Given the description of an element on the screen output the (x, y) to click on. 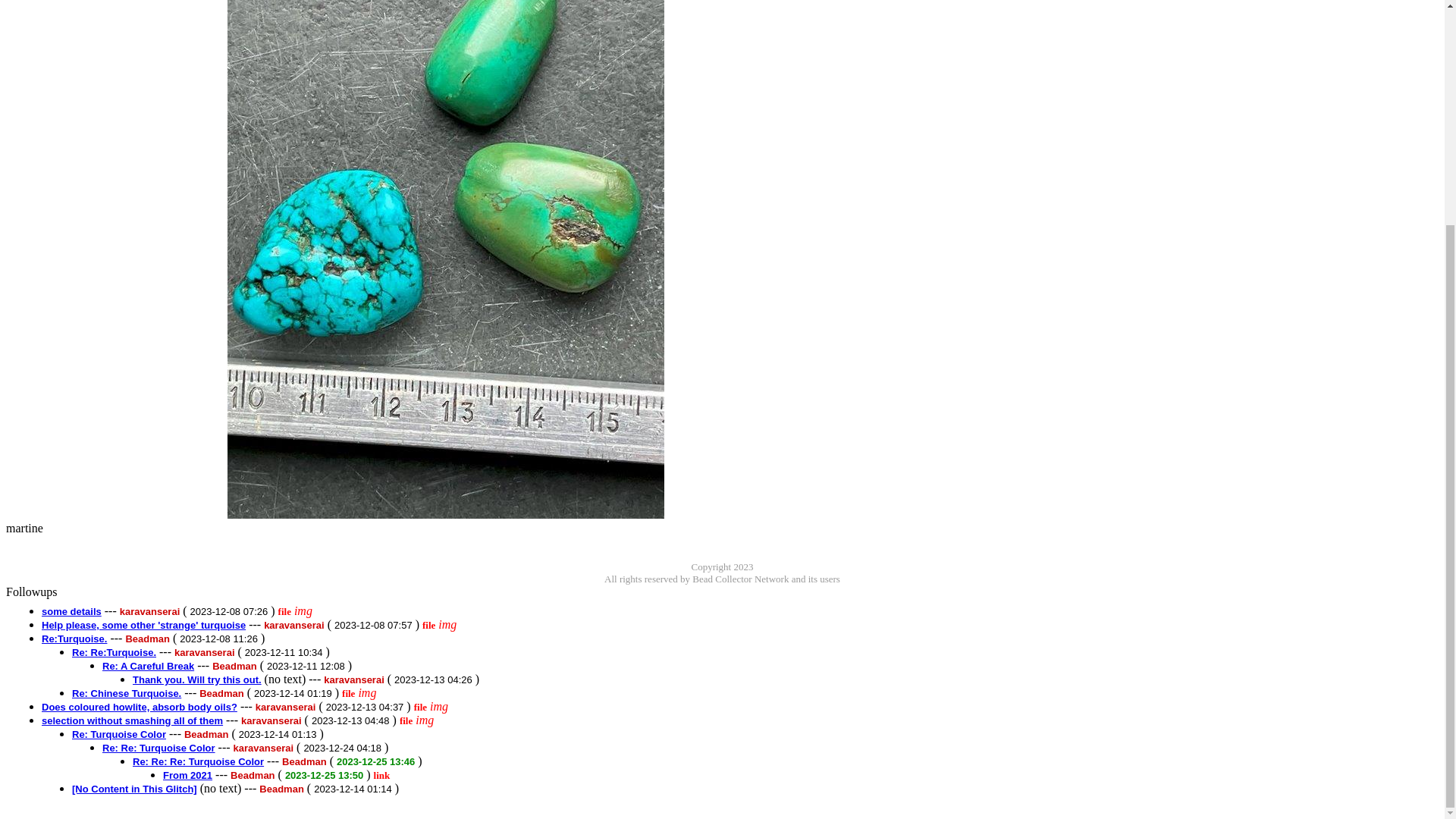
karavanserai (353, 678)
Re:Turquoise. (74, 637)
karavanserai (271, 719)
Thank you. Will try this out. (197, 678)
selection without smashing all of them (132, 719)
Beadman (221, 692)
karavanserai (149, 610)
Beadman (234, 665)
karavanserai (204, 651)
Re: Re: Turquoise Color (158, 747)
Does coloured howlite, absorb body oils? (139, 706)
Re: A Careful Break (147, 665)
some details (71, 610)
Re: Chinese Turquoise. (125, 692)
Re: Re:Turquoise. (113, 651)
